Given the description of an element on the screen output the (x, y) to click on. 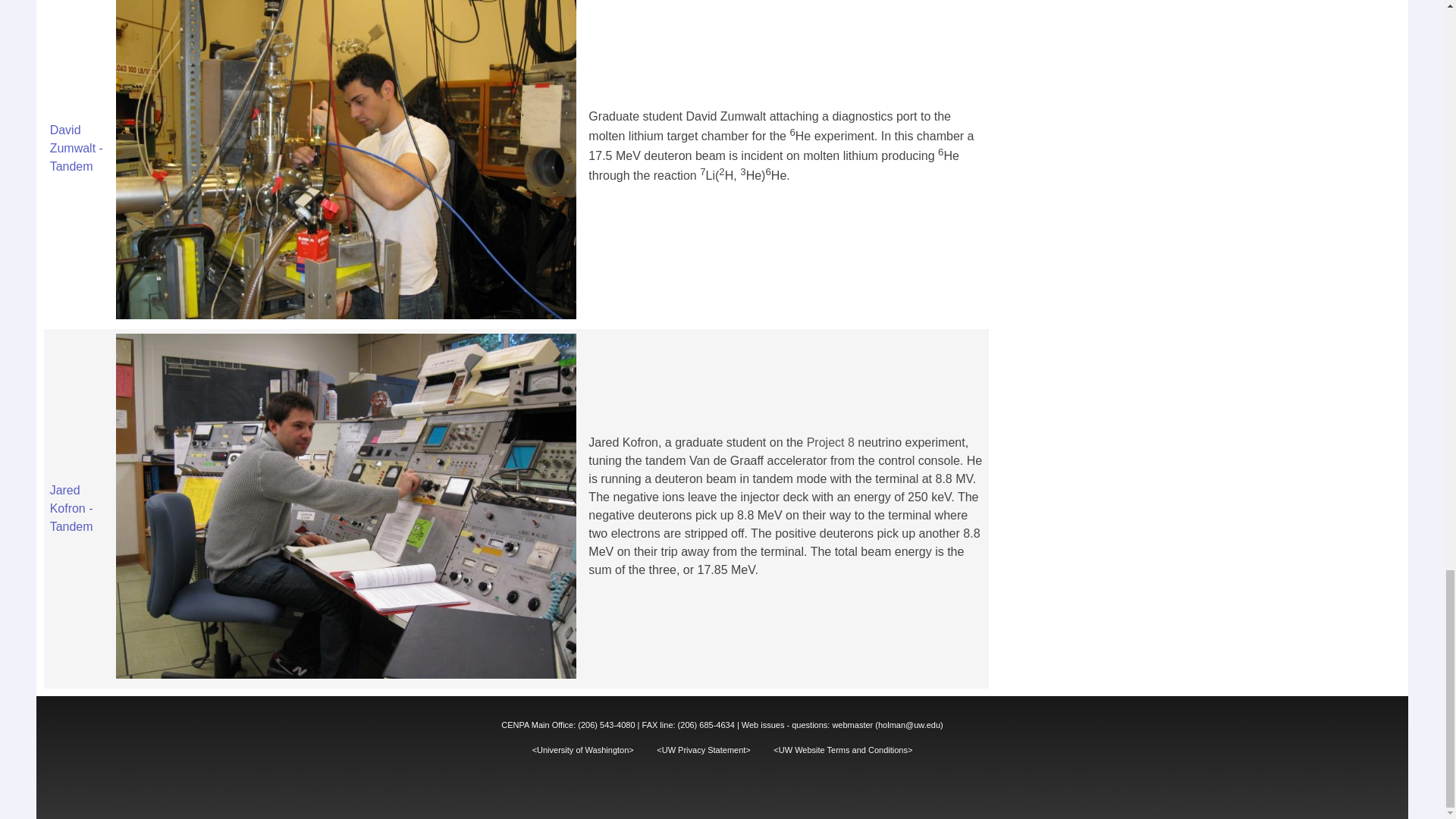
David Zumwalt - Tandem (76, 147)
